Given the description of an element on the screen output the (x, y) to click on. 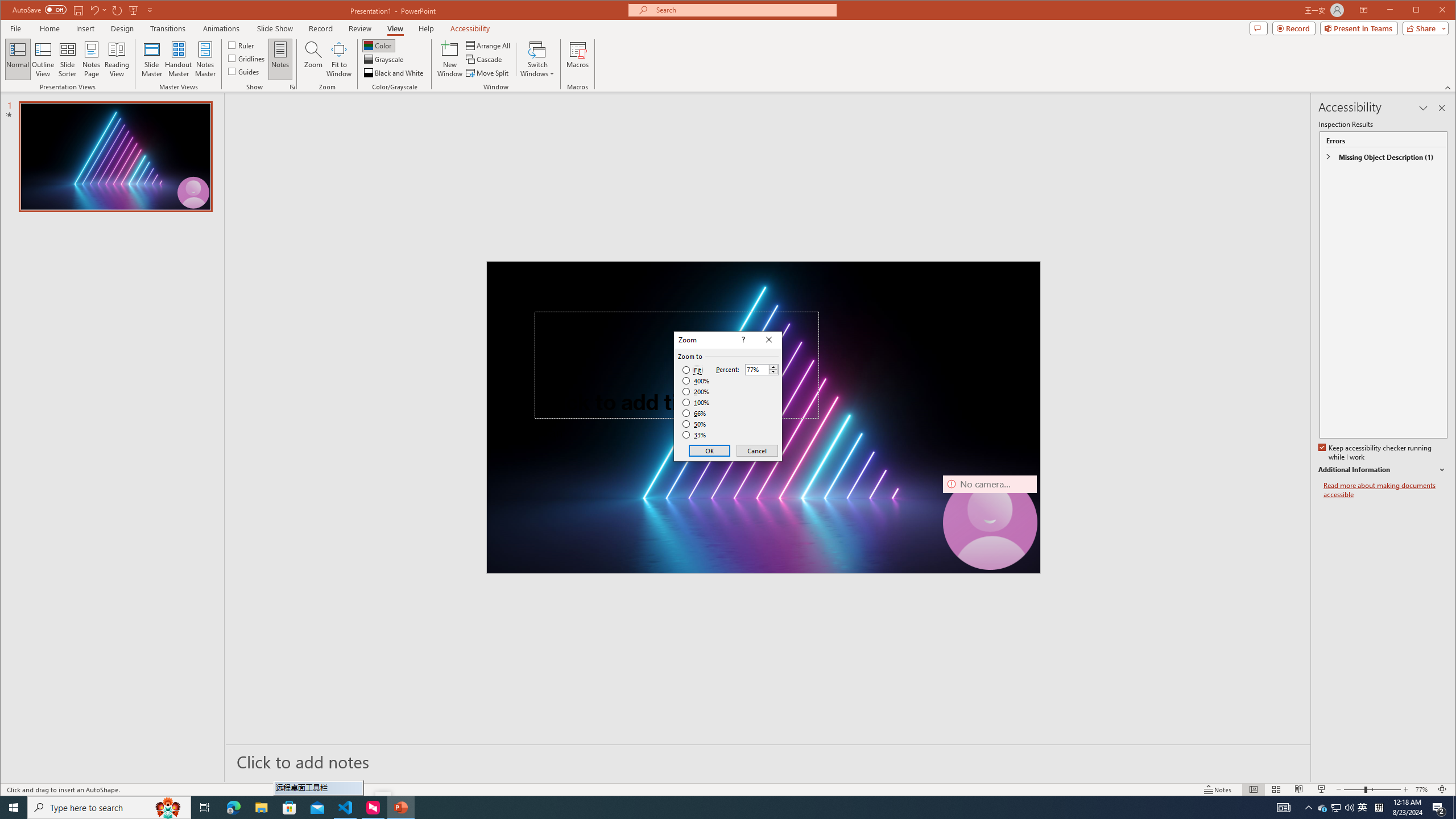
Cascade (484, 59)
Ruler (241, 44)
New Window (450, 59)
Arrange All (488, 45)
OK (709, 450)
Camera 7, No camera detected. (990, 522)
66% (694, 412)
